Given the description of an element on the screen output the (x, y) to click on. 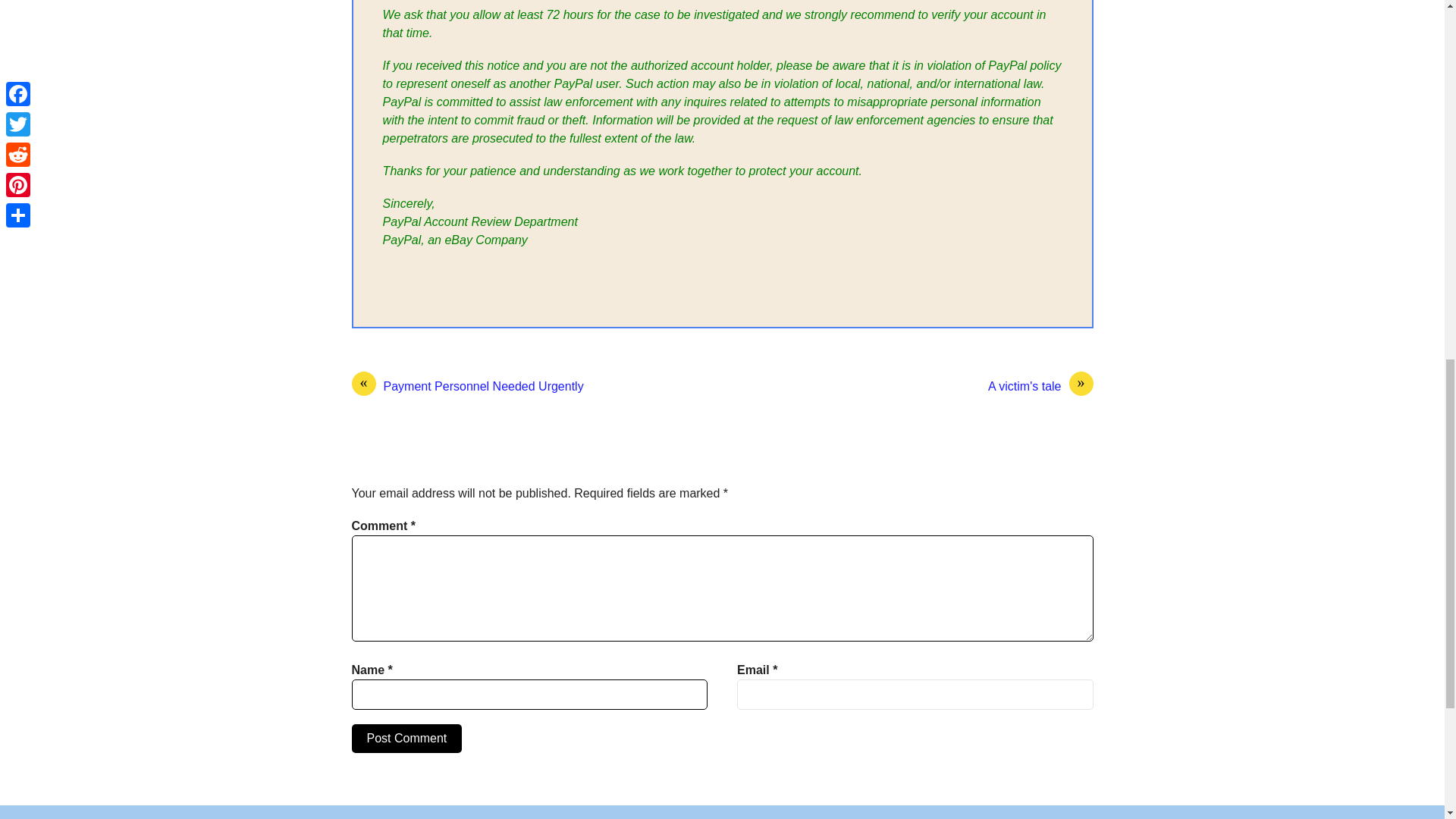
Post Comment (407, 737)
Post Comment (407, 737)
